Given the description of an element on the screen output the (x, y) to click on. 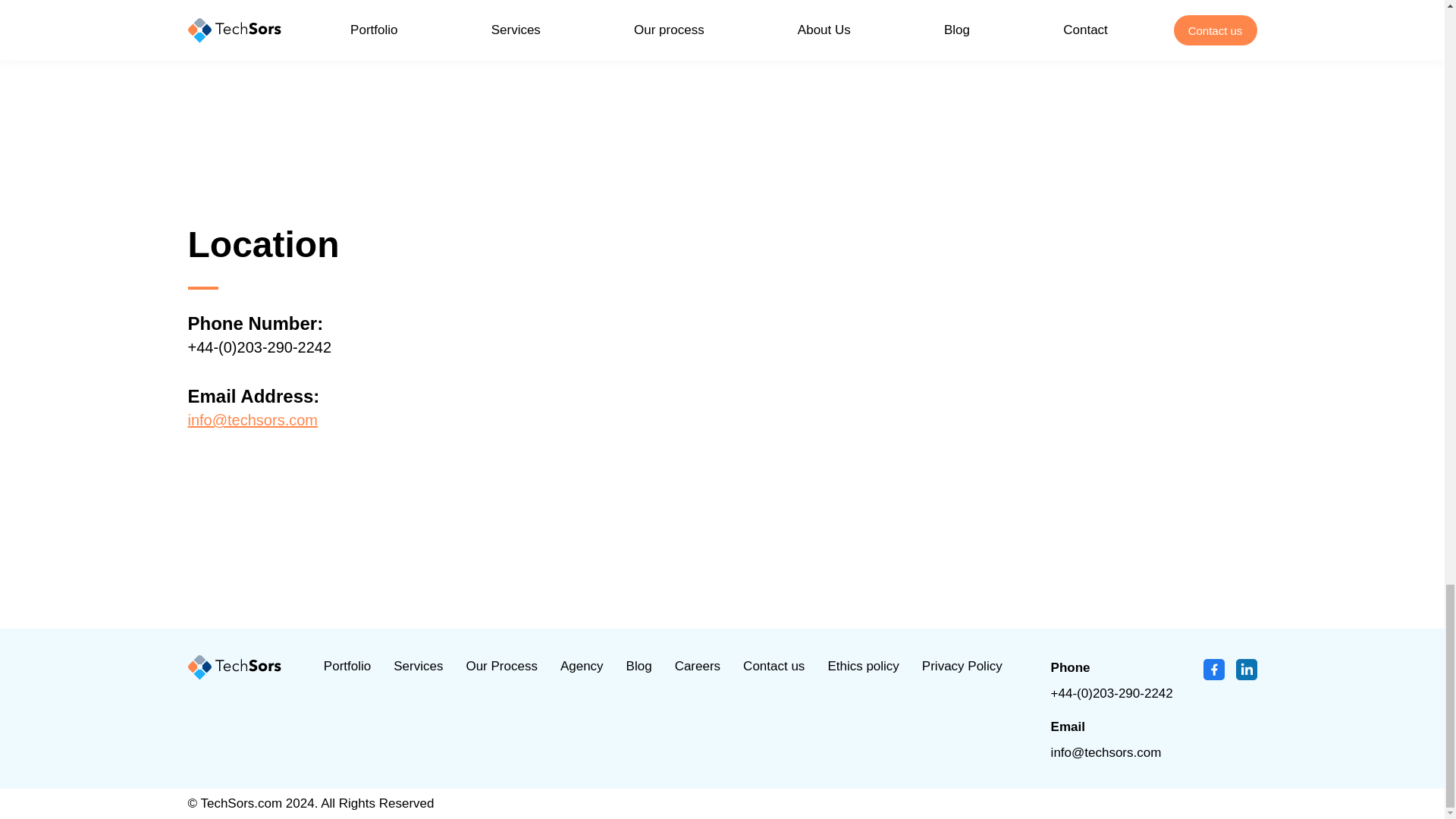
Portfolio (347, 666)
Ethics policy (862, 666)
Privacy Policy (962, 666)
Blog (639, 666)
Agency (582, 666)
Contact us (773, 666)
Our Process (501, 666)
Services (417, 666)
Careers (697, 666)
